Given the description of an element on the screen output the (x, y) to click on. 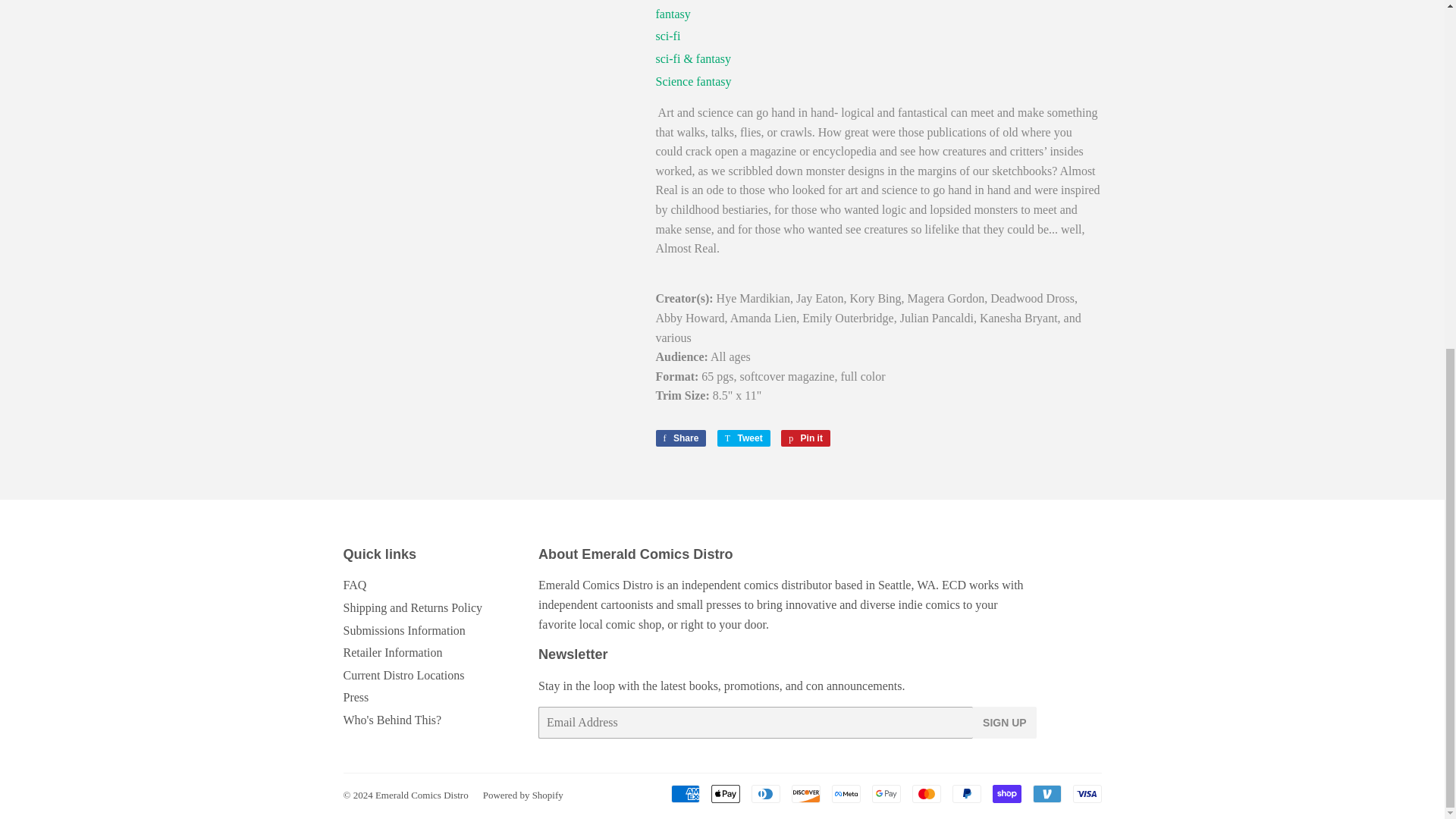
Visa (1085, 793)
Share on Facebook (680, 437)
Apple Pay (725, 793)
American Express (683, 793)
Pin on Pinterest (804, 437)
Meta Pay (845, 793)
Venmo (1046, 793)
Mastercard (925, 793)
Shop Pay (1005, 793)
Diners Club (764, 793)
